Given the description of an element on the screen output the (x, y) to click on. 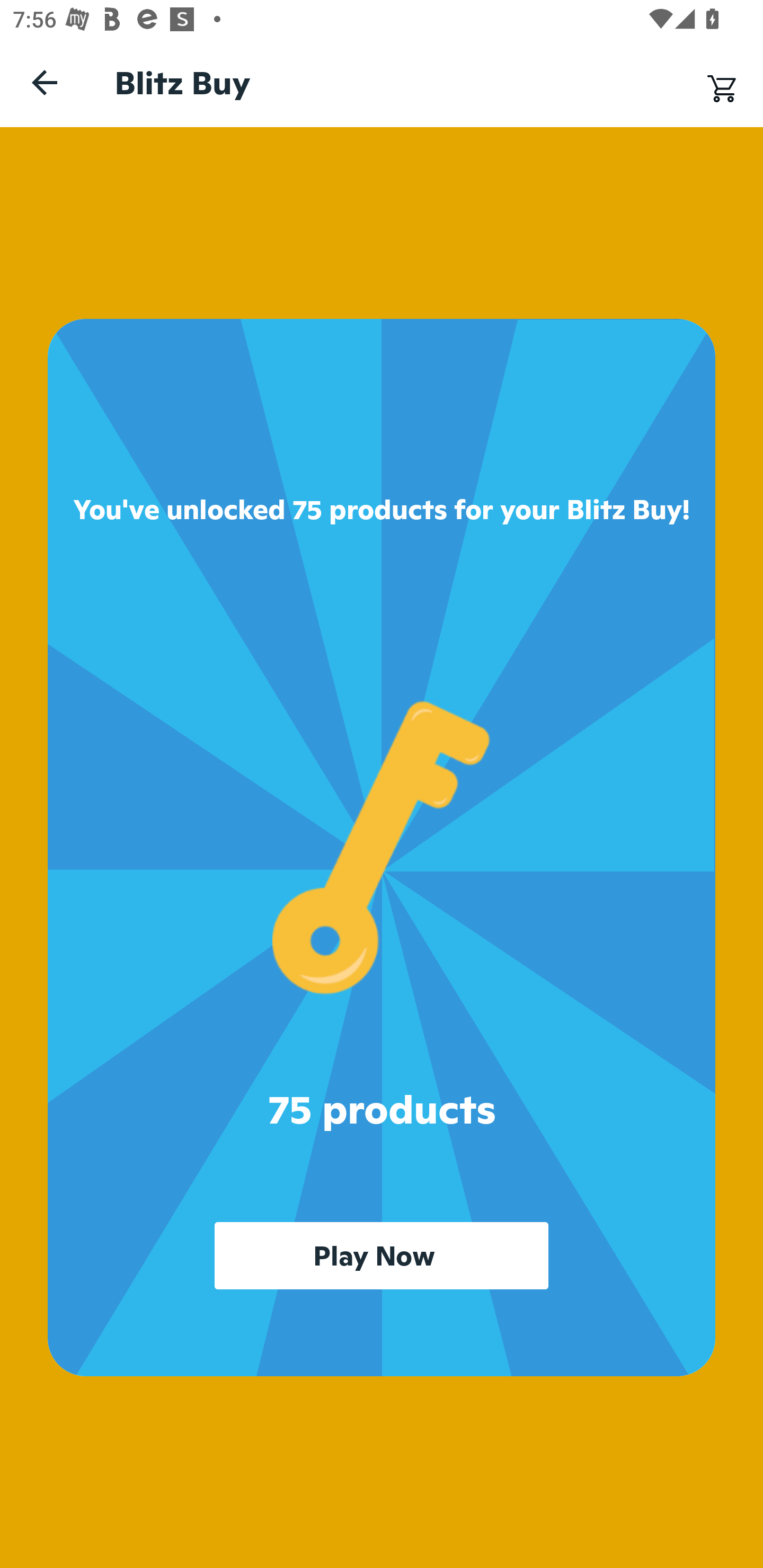
Navigate up (44, 82)
Play Now (381, 1254)
